Given the description of an element on the screen output the (x, y) to click on. 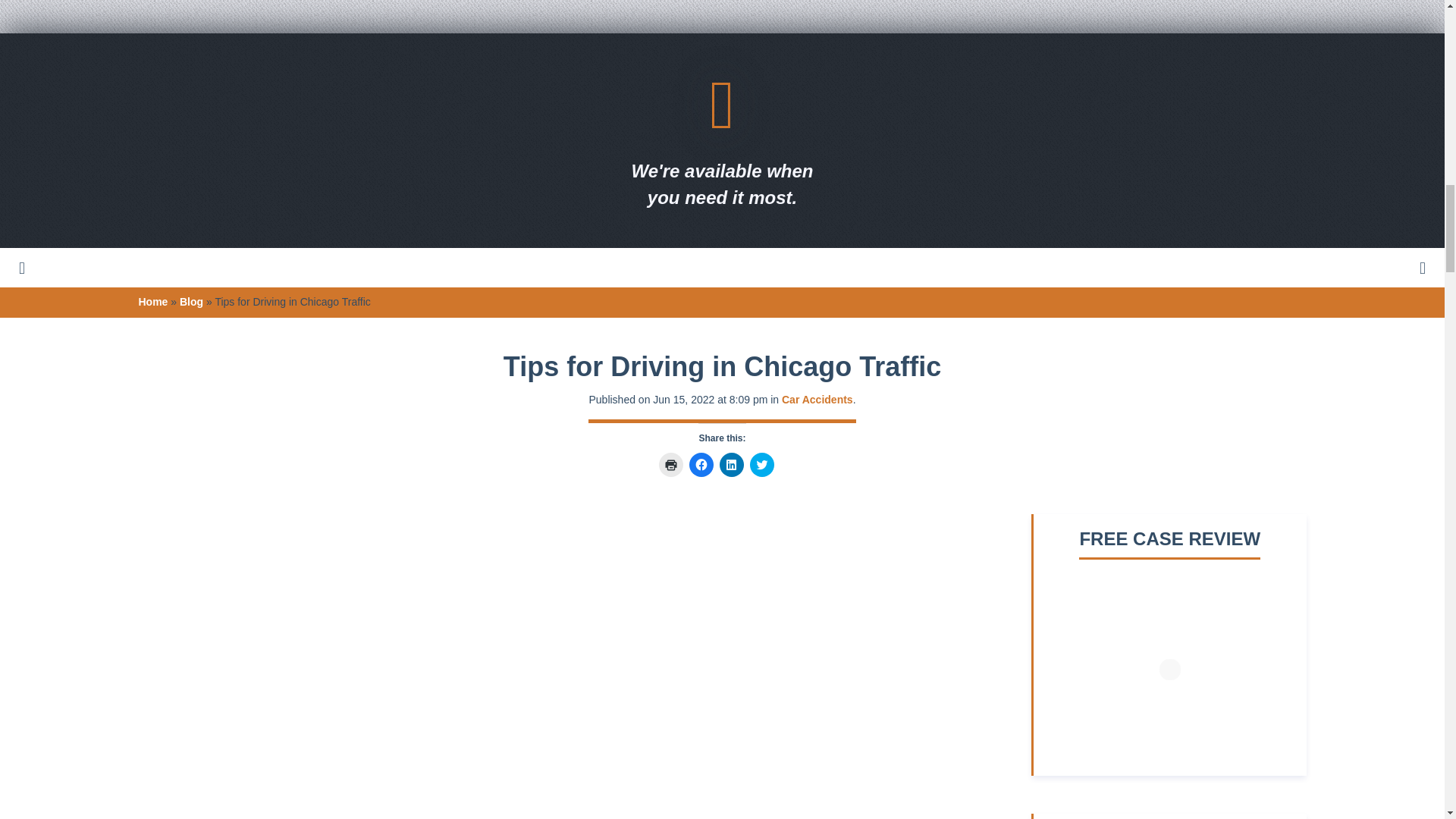
Click to print (670, 464)
Click to share on LinkedIn (730, 464)
Blog (191, 301)
Click to share on Twitter (761, 464)
Car Accidents (817, 399)
Click to share on Facebook (700, 464)
Home (152, 301)
